Given the description of an element on the screen output the (x, y) to click on. 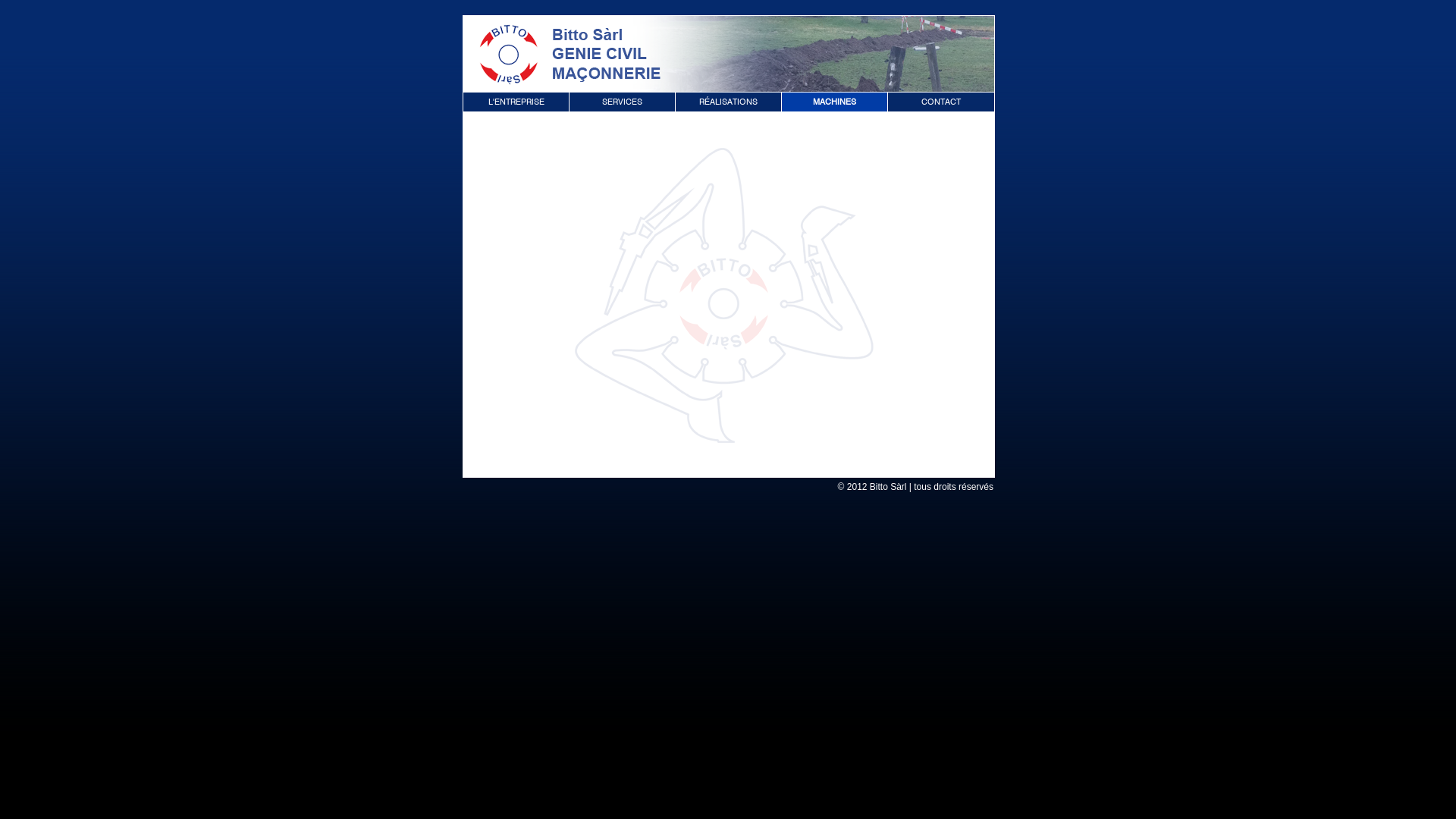
L'ENTREPRISE Element type: text (515, 100)
CONTACT Element type: text (940, 100)
SERVICES Element type: text (621, 100)
